Given the description of an element on the screen output the (x, y) to click on. 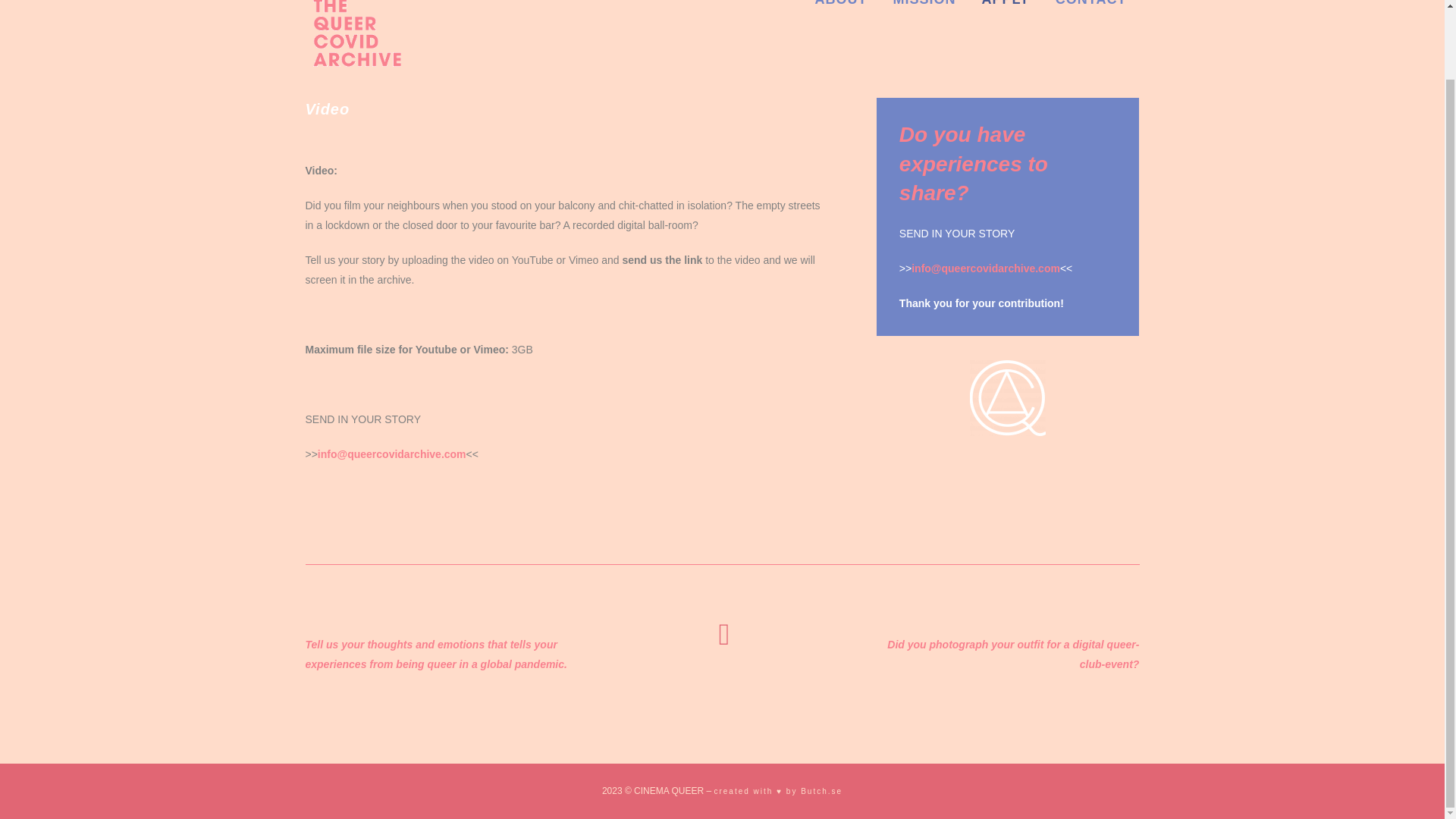
MISSION (923, 37)
CONTACT (1091, 37)
Logotypikon - vit (1007, 397)
APPLY (1005, 37)
ABOUT (840, 37)
